Given the description of an element on the screen output the (x, y) to click on. 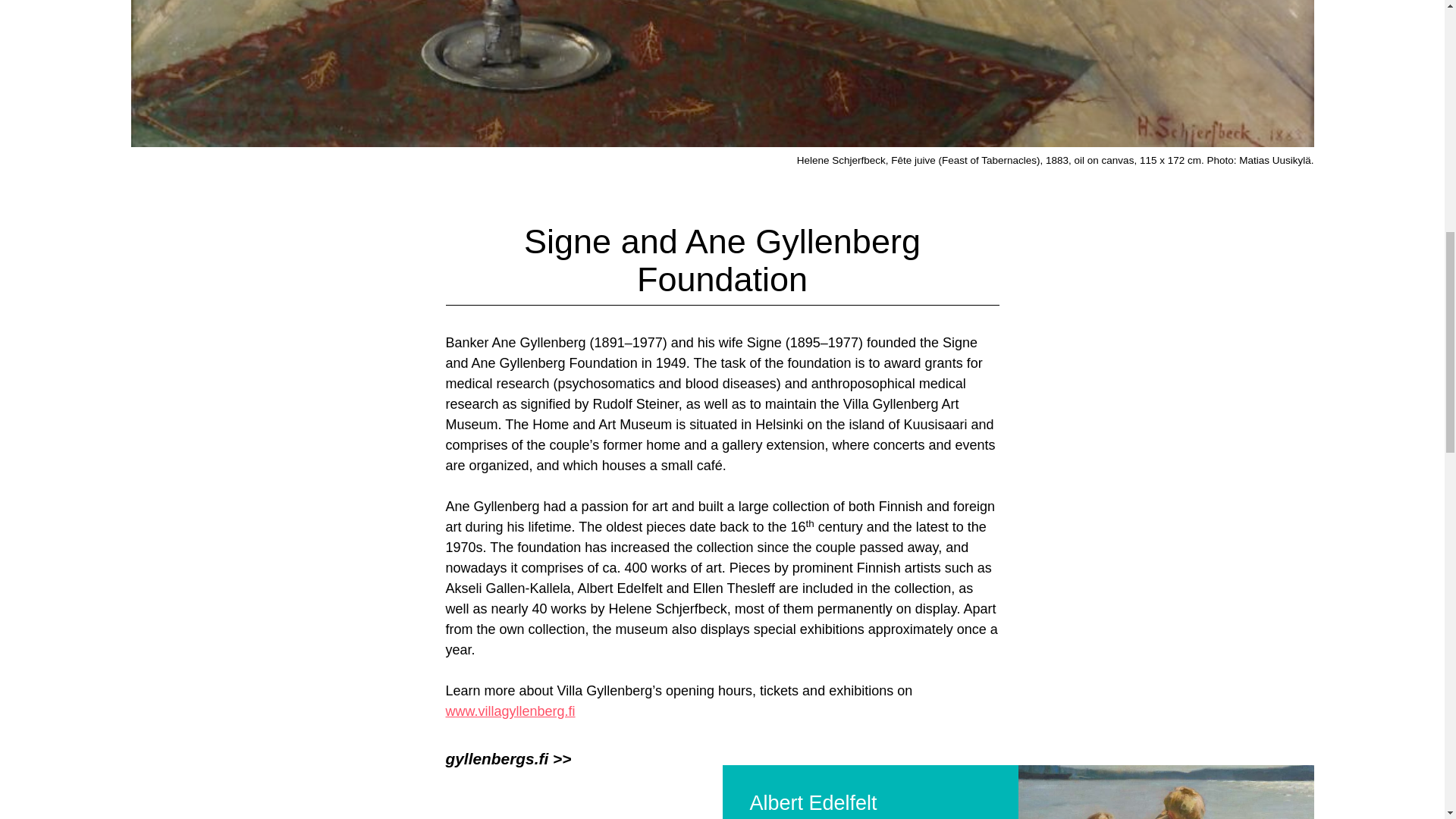
gyllenbergs.fi (508, 758)
www.villagyllenberg.fi (510, 711)
